Given the description of an element on the screen output the (x, y) to click on. 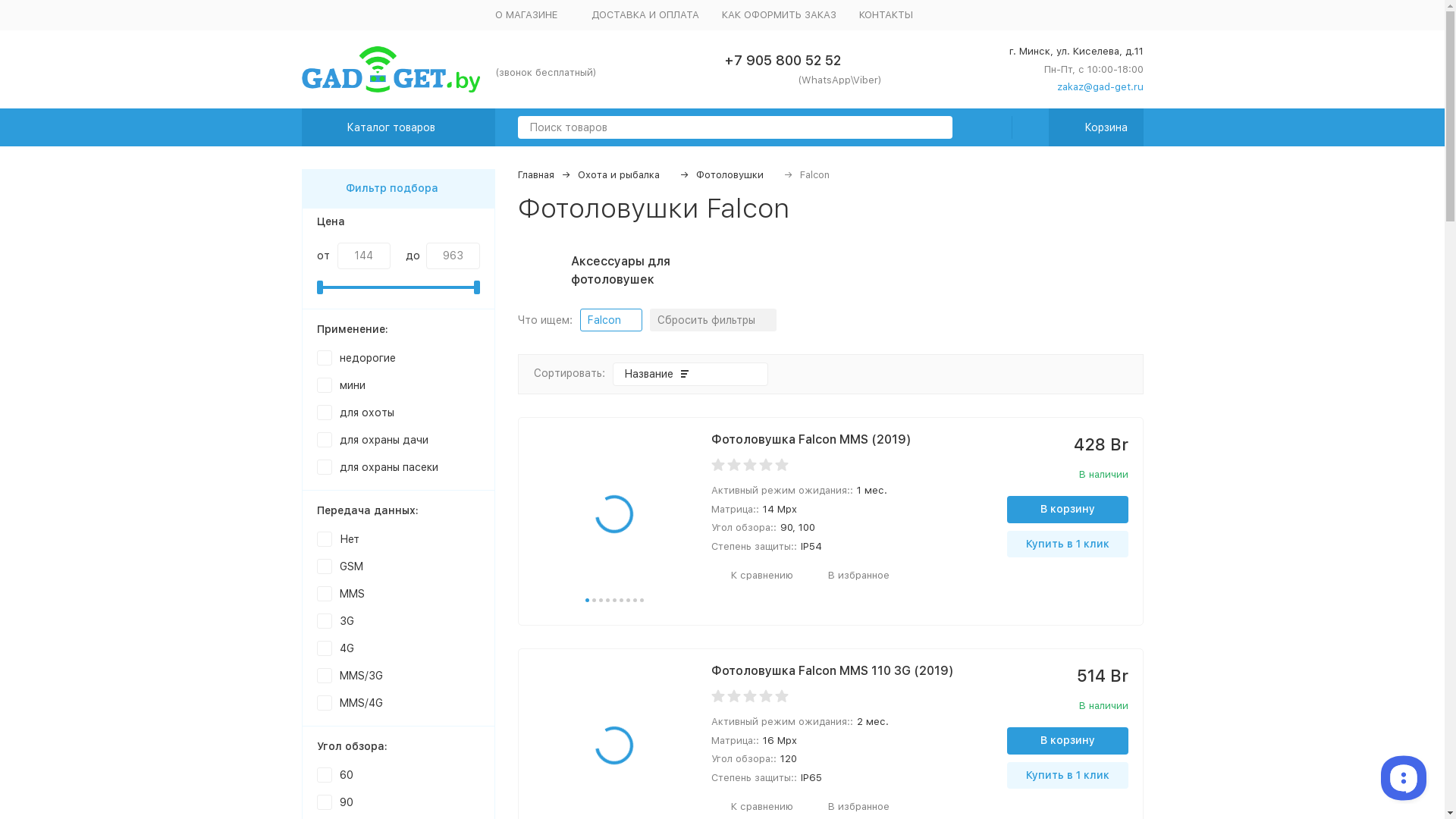
__replain_widget_iframe Element type: hover (1402, 776)
+7 905 800 52 52 Element type: text (782, 60)
zakaz@gad-get.ru Element type: text (1091, 87)
